Given the description of an element on the screen output the (x, y) to click on. 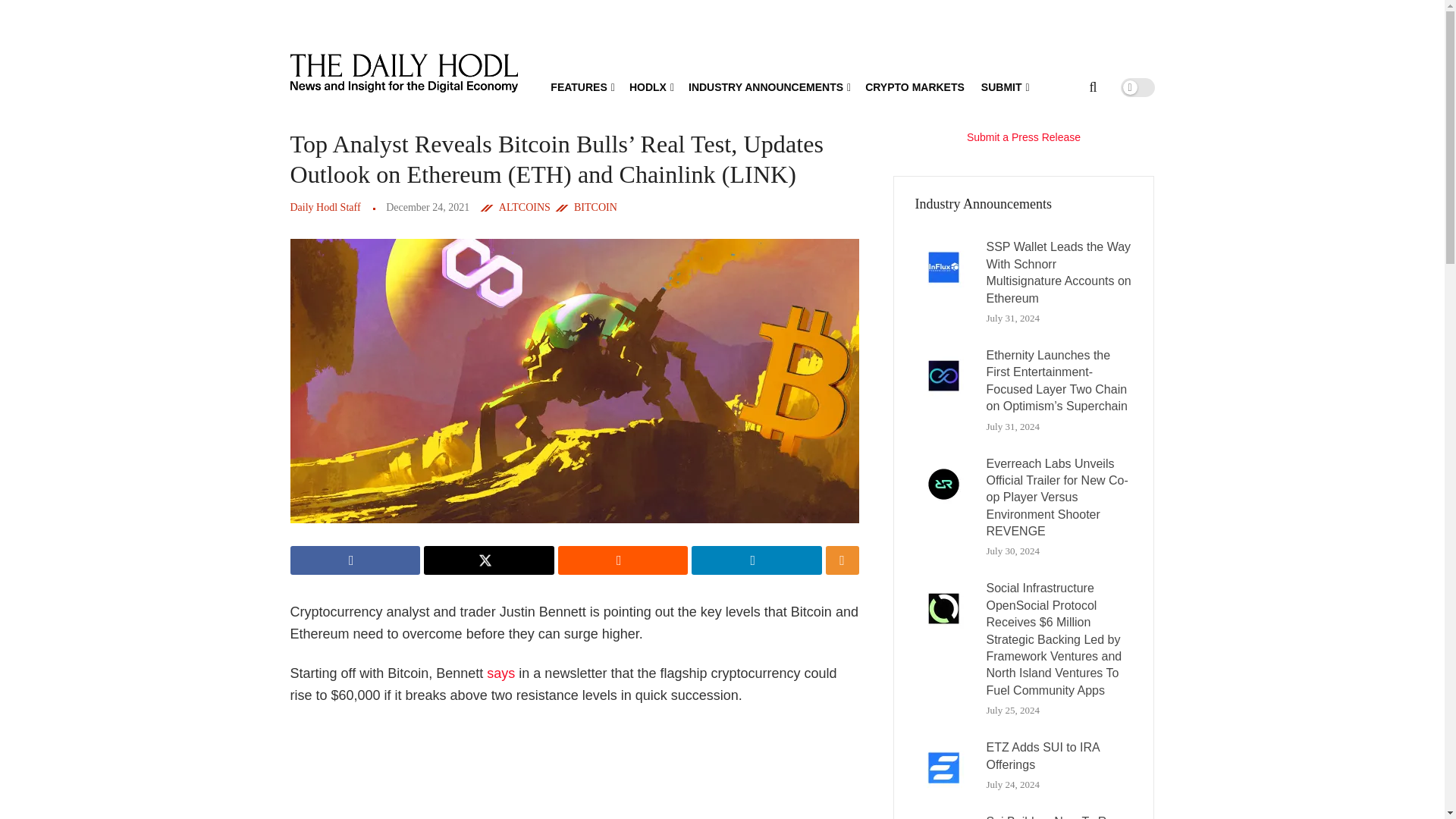
CRYPTO MARKETS (913, 86)
SUBMIT (1004, 86)
HODLX (649, 86)
FEATURES (581, 86)
INDUSTRY ANNOUNCEMENTS (768, 86)
Advertisement (581, 771)
